Given the description of an element on the screen output the (x, y) to click on. 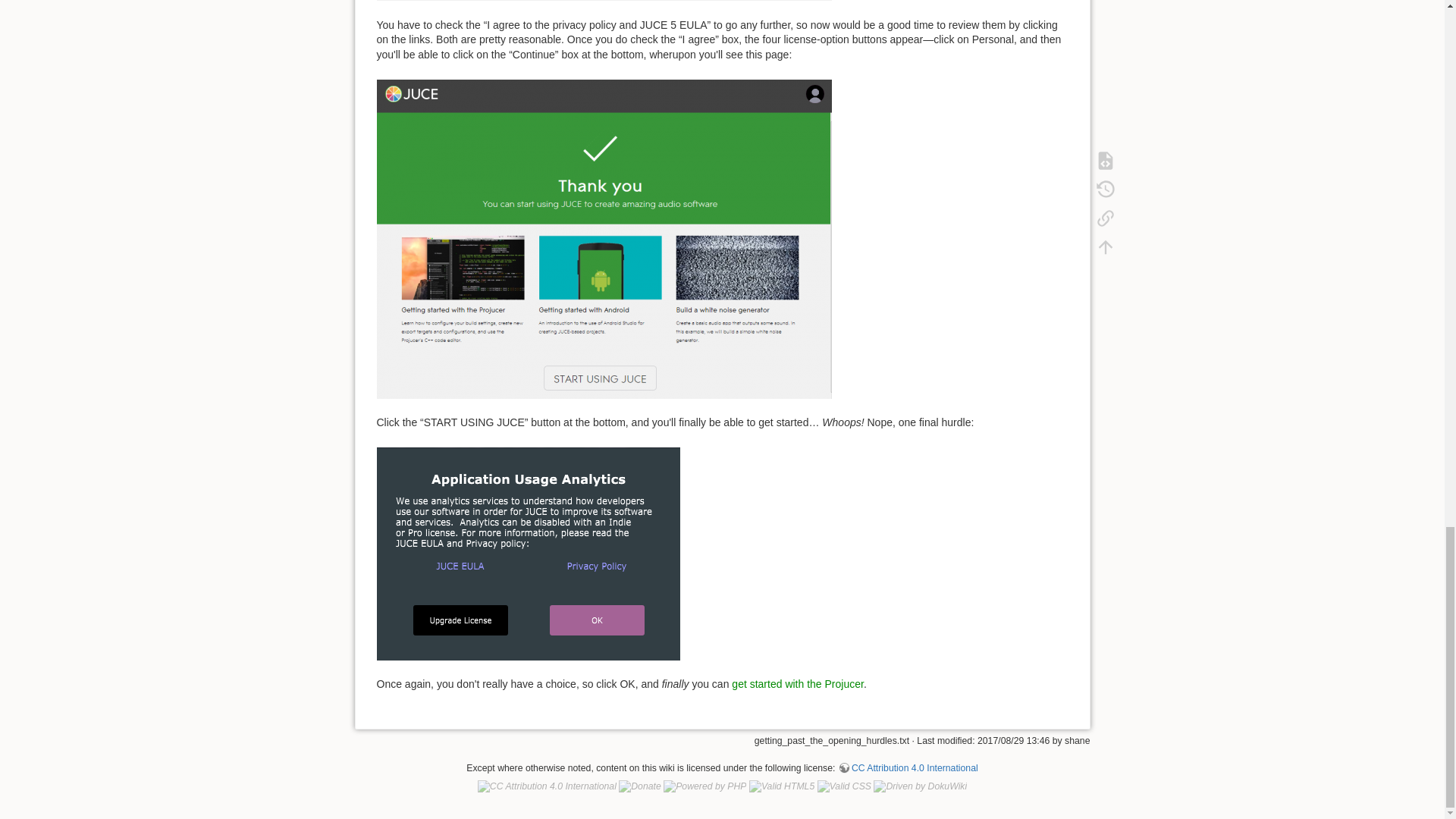
CC Attribution 4.0 International (908, 767)
get started with the Projucer (797, 684)
projucer-sign-in5.png (603, 237)
